Given the description of an element on the screen output the (x, y) to click on. 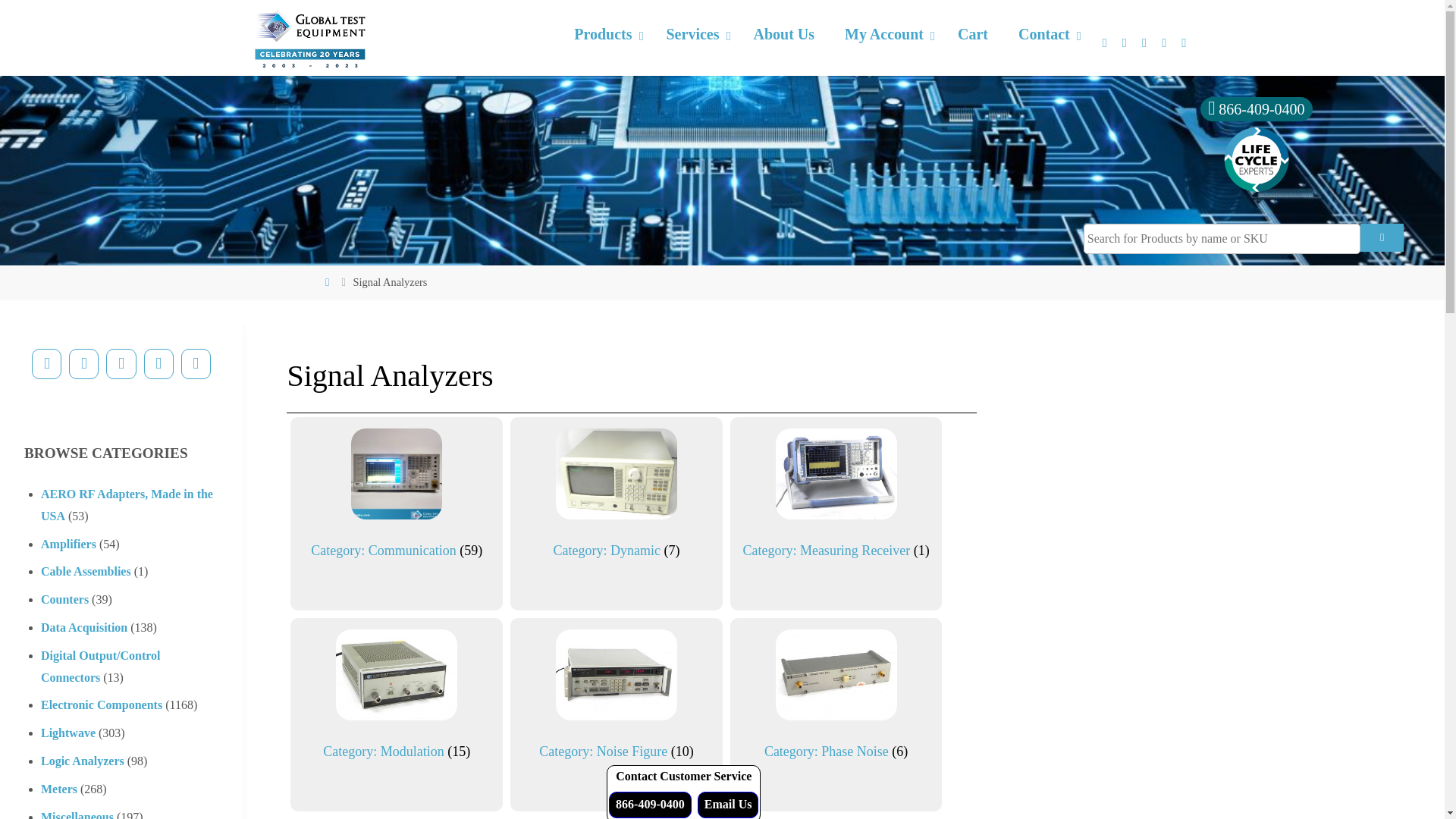
eBay (195, 363)
Products (604, 35)
Instagram (158, 363)
Twitter (83, 363)
Global Test Equipment (309, 37)
LinkedIn (120, 363)
Facebook (46, 363)
